Given the description of an element on the screen output the (x, y) to click on. 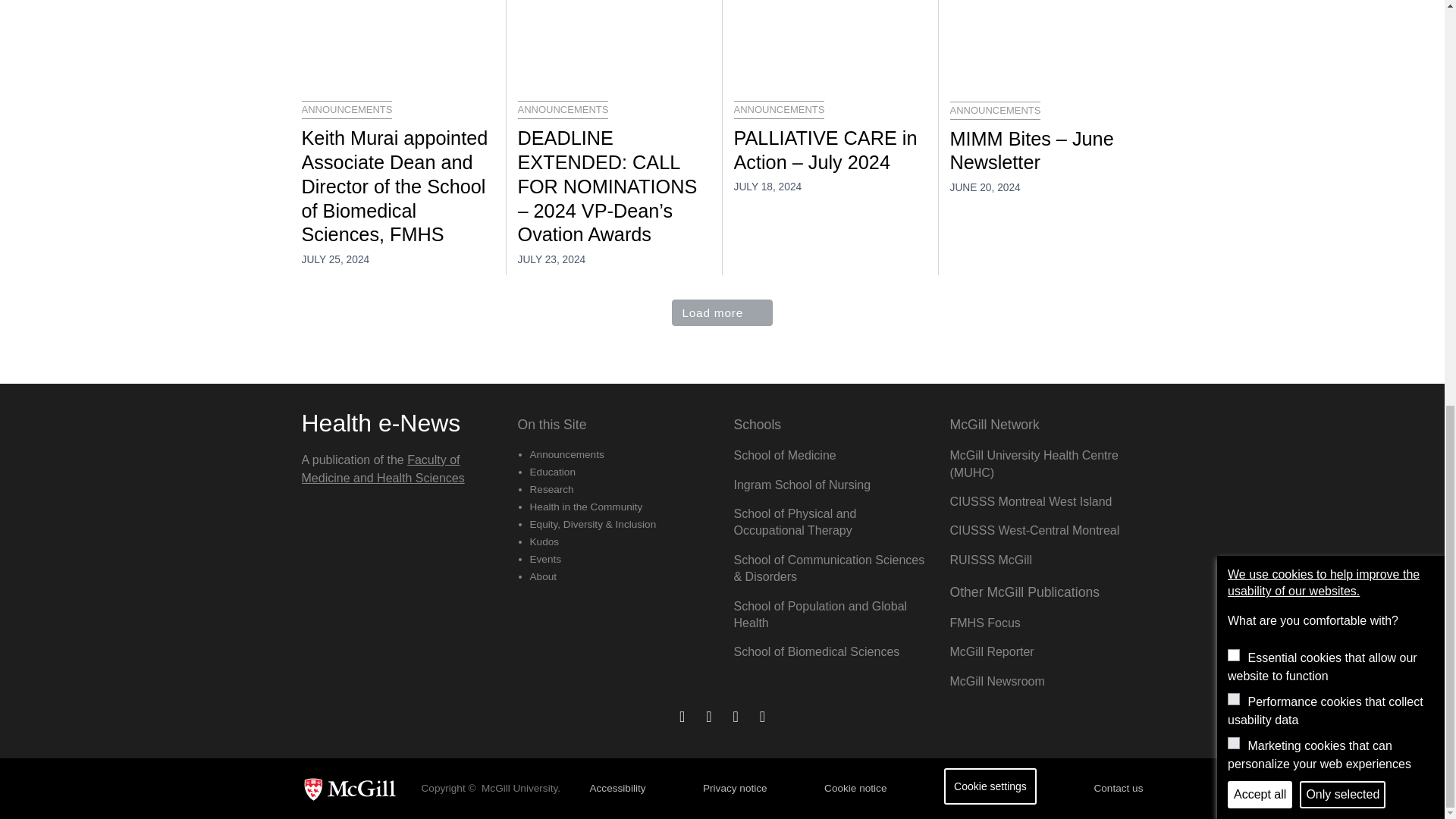
ANNOUNCEMENTS (995, 110)
Education (552, 471)
ANNOUNCEMENTS (347, 109)
Health e-News (381, 422)
Home (381, 422)
ANNOUNCEMENTS (779, 109)
Health in the Community (585, 506)
ANNOUNCEMENTS (562, 109)
Research (551, 489)
McGill University (355, 788)
Faculty of Medicine and Health Sciences (382, 468)
Announcements (566, 454)
Load more (722, 312)
